Given the description of an element on the screen output the (x, y) to click on. 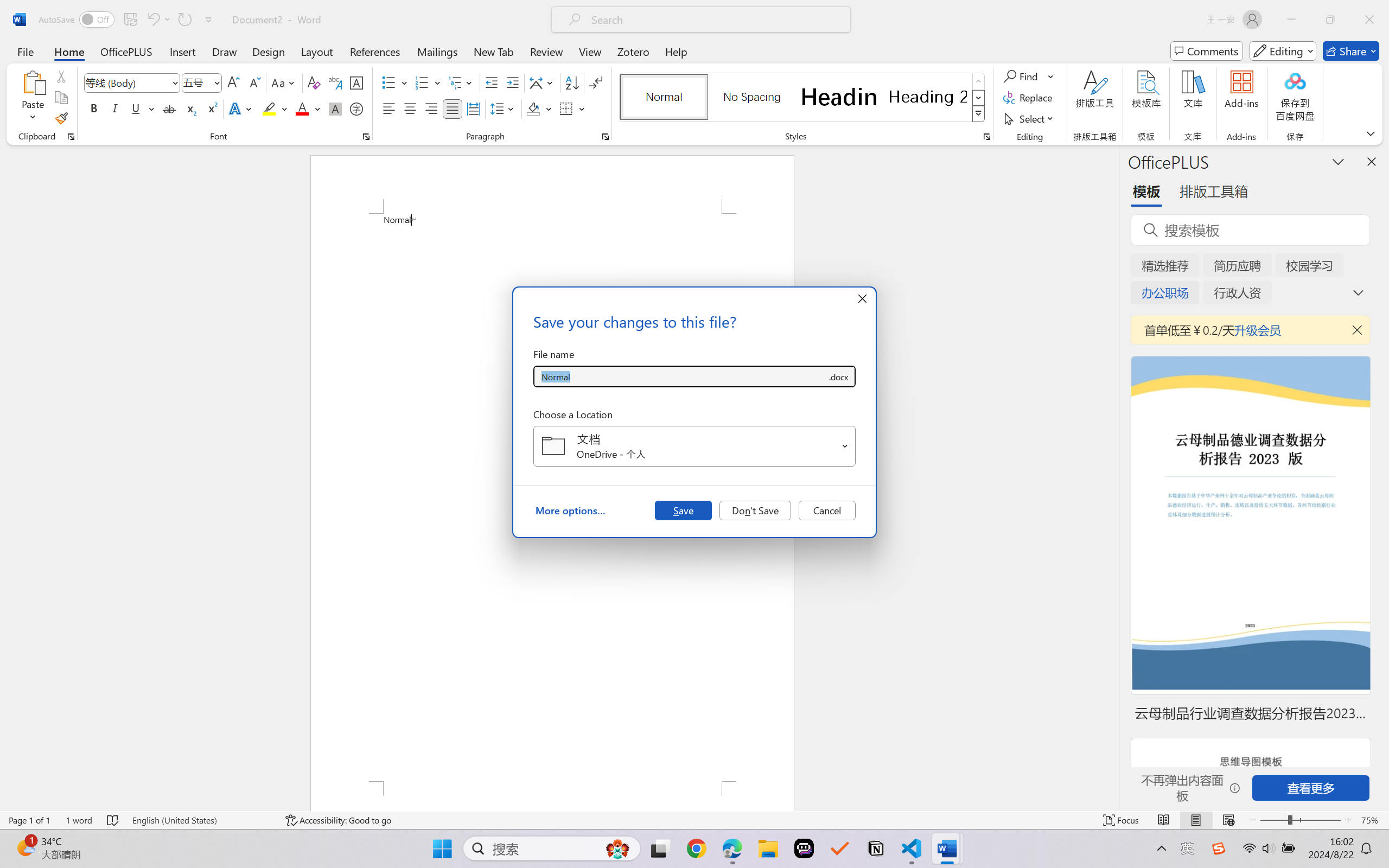
Insert (182, 51)
Underline (135, 108)
Focus  (1121, 819)
More Options (1051, 75)
